Given the description of an element on the screen output the (x, y) to click on. 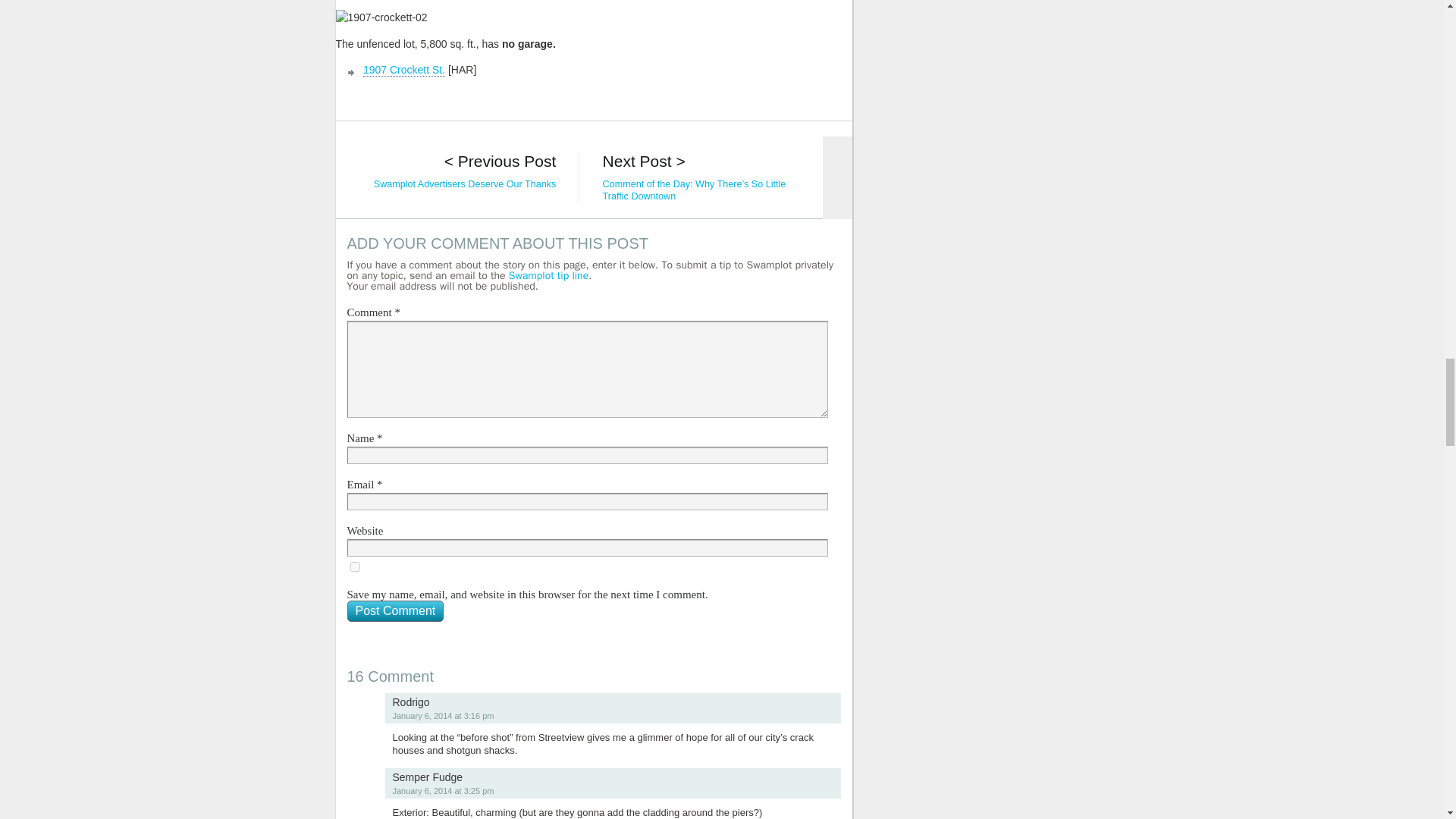
yes (354, 566)
Swamplot tip line (548, 275)
Post Comment (395, 610)
1907 Crockett St. (403, 69)
